Given the description of an element on the screen output the (x, y) to click on. 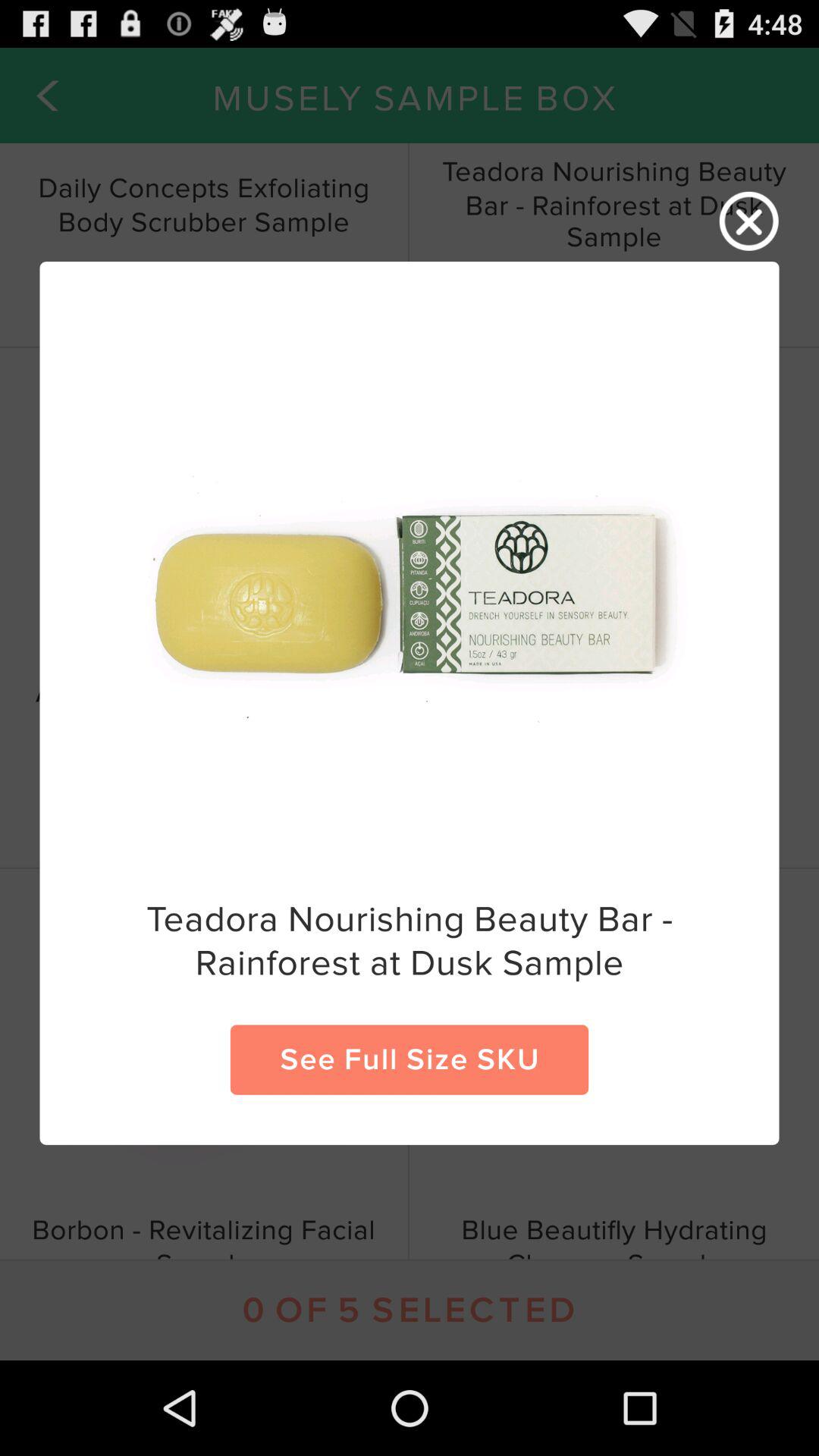
scroll until the see full size (409, 1059)
